Given the description of an element on the screen output the (x, y) to click on. 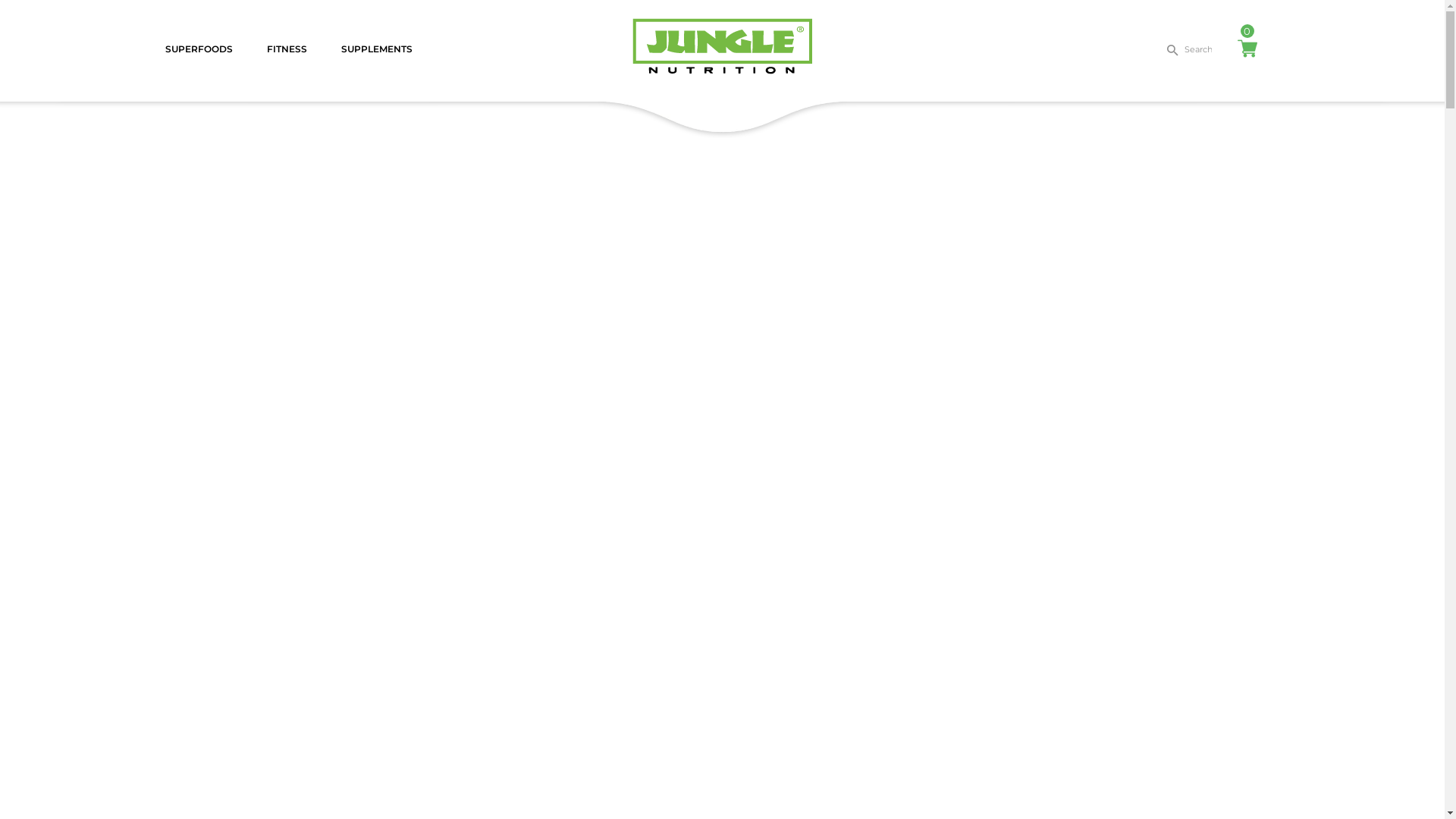
FITNESS Element type: text (286, 49)
0 Element type: text (1247, 49)
SUPPLEMENTS Element type: text (375, 49)
SUPERFOODS Element type: text (197, 49)
